Given the description of an element on the screen output the (x, y) to click on. 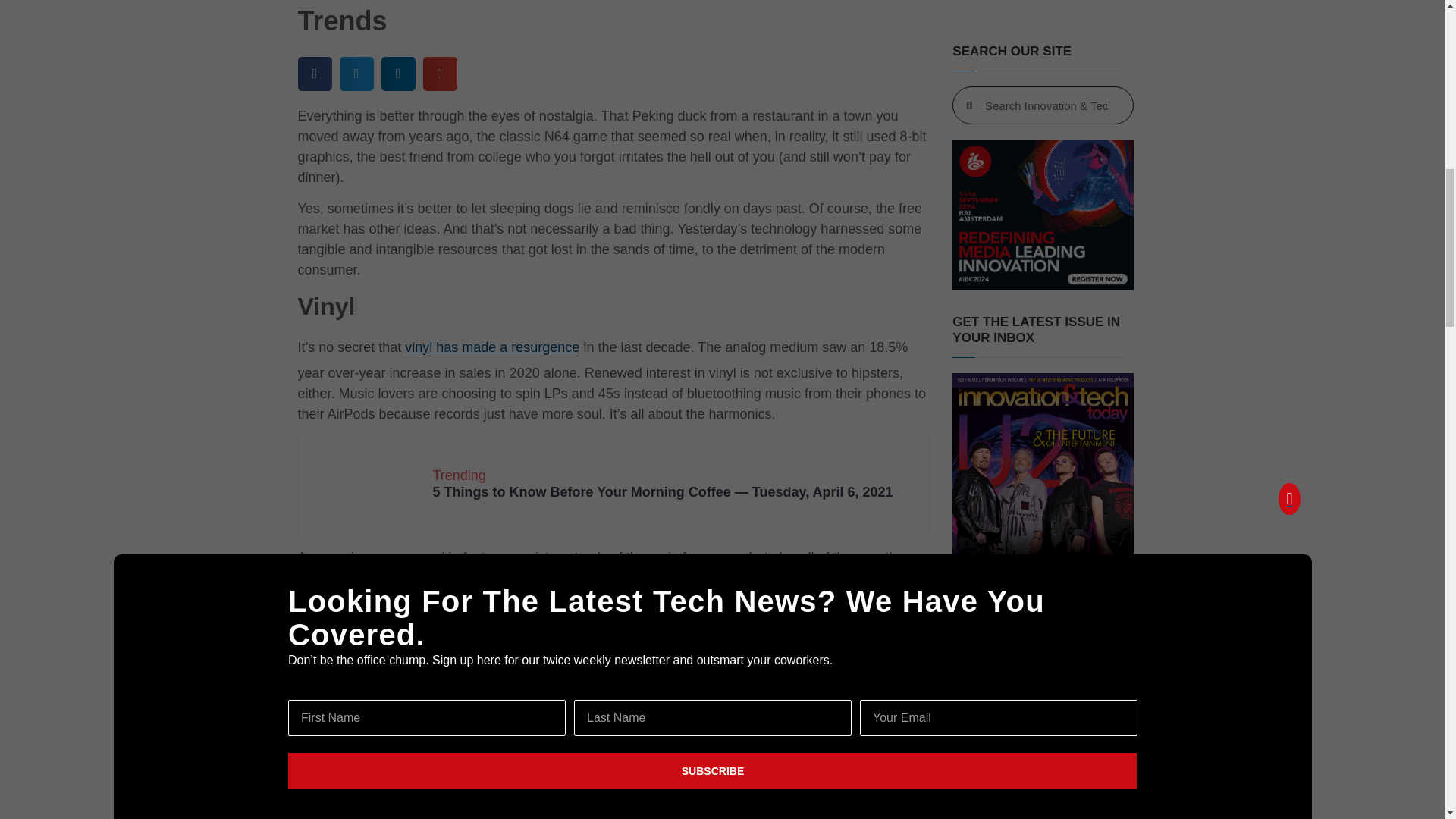
Sign Me Up! (1038, 298)
